Given the description of an element on the screen output the (x, y) to click on. 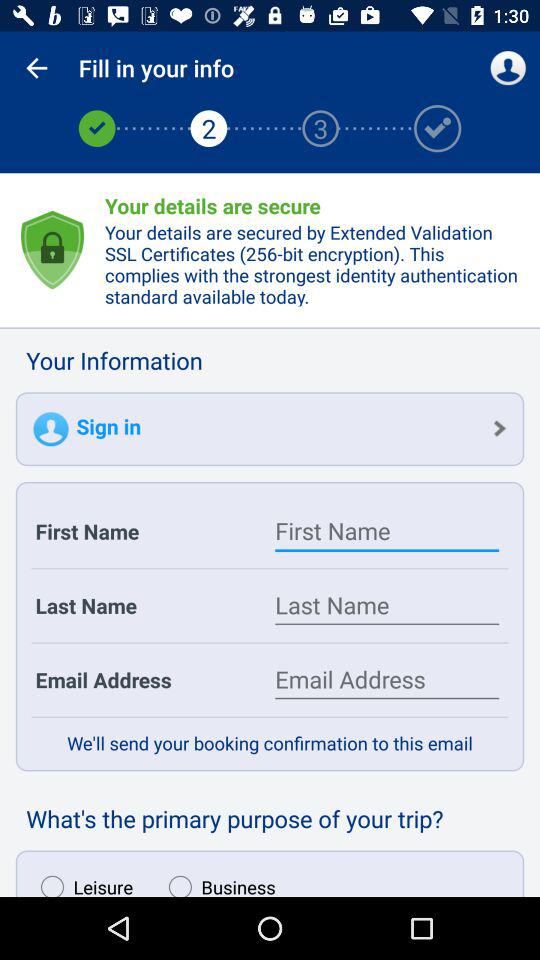
press item below the your information icon (269, 429)
